Given the description of an element on the screen output the (x, y) to click on. 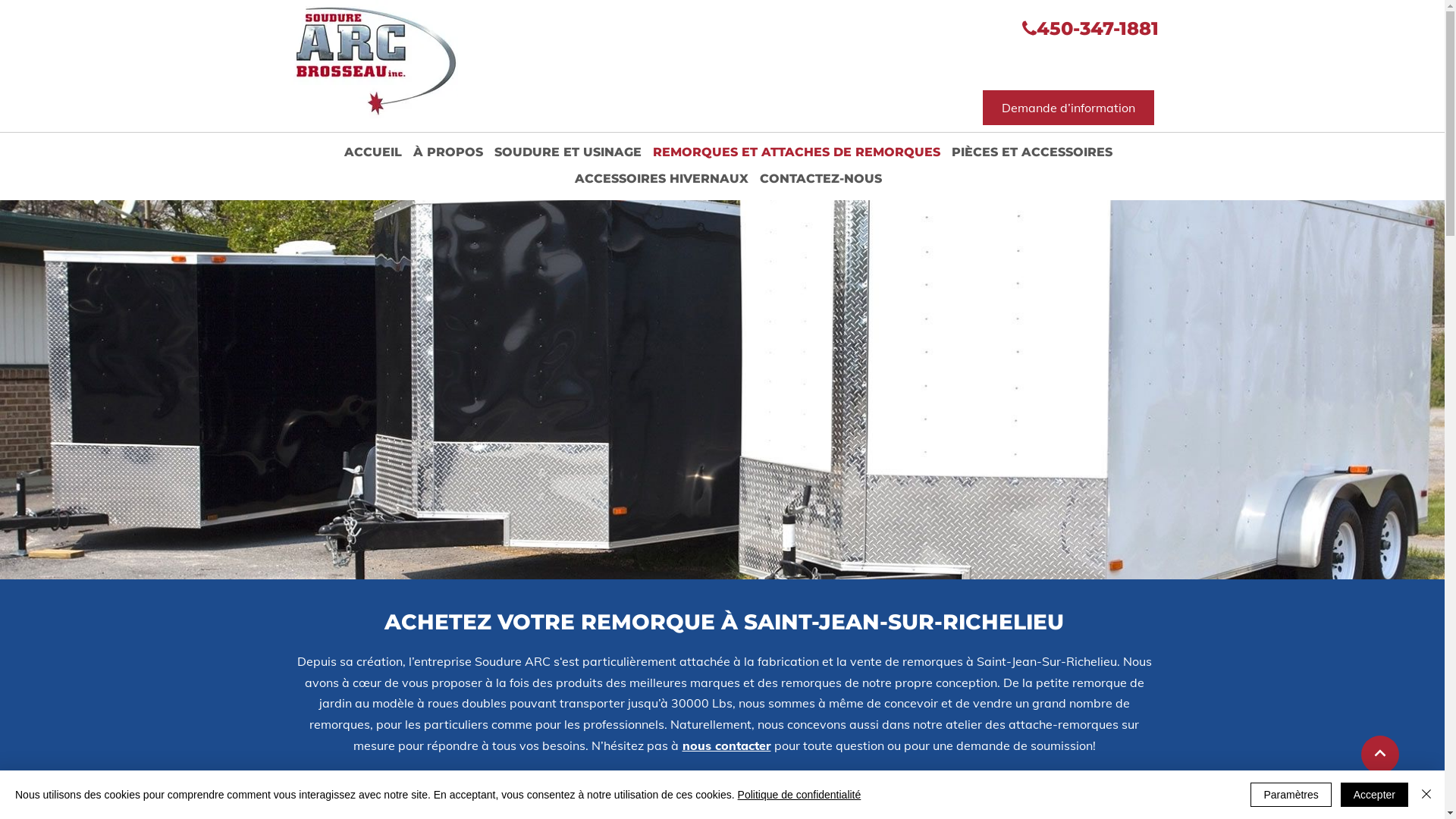
Accepter Element type: text (1374, 794)
SOUDURE ET USINAGE Element type: text (567, 152)
nous contacter Element type: text (723, 745)
ACCESSOIRES HIVERNAUX Element type: text (661, 179)
REMORQUES ET ATTACHES DE REMORQUES Element type: text (795, 152)
CONTACTEZ-NOUS Element type: text (820, 179)
450-347-1881 Element type: text (1096, 28)
ACCUEIL Element type: text (372, 152)
